Given the description of an element on the screen output the (x, y) to click on. 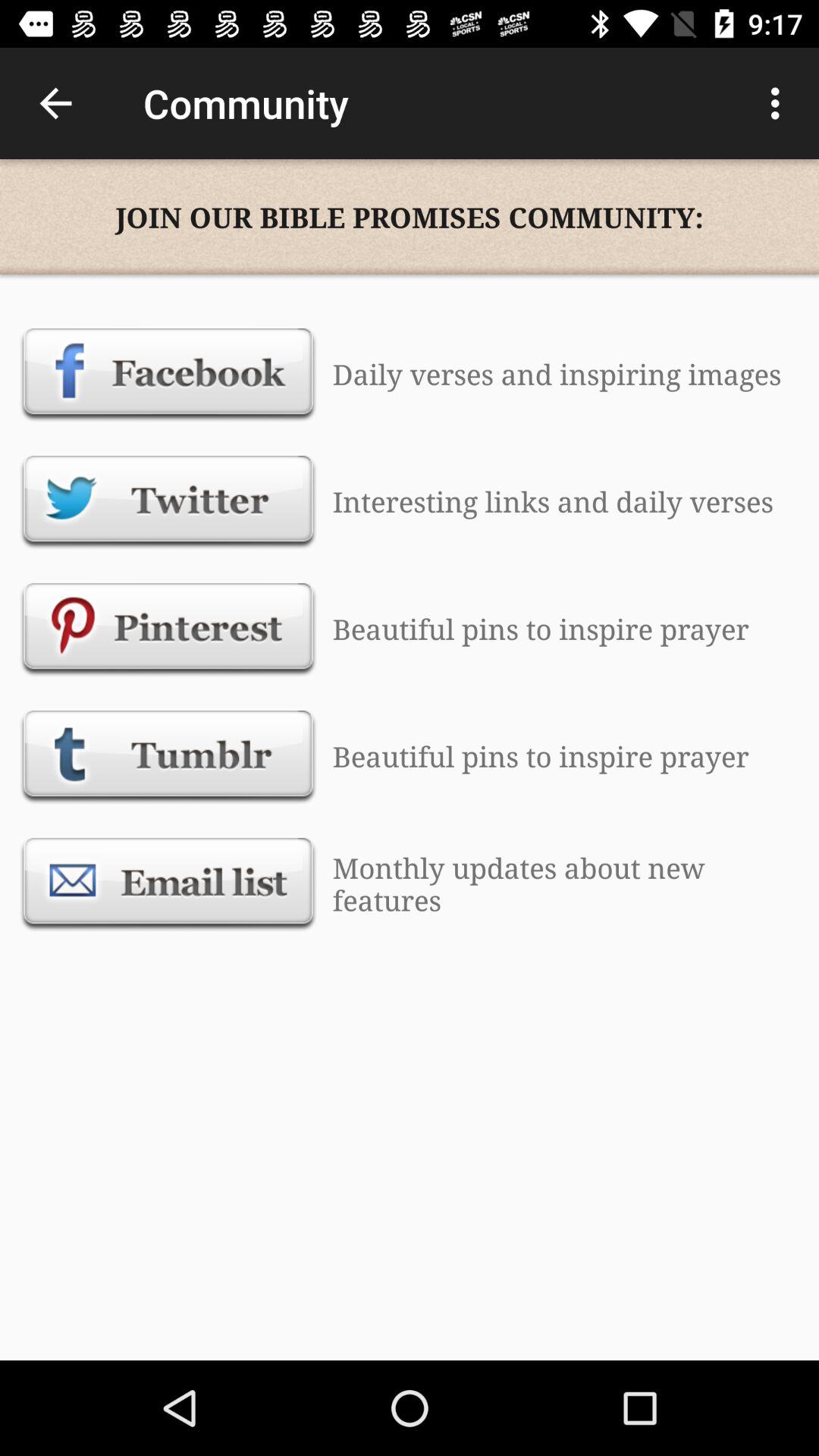
open facebook page (167, 374)
